Given the description of an element on the screen output the (x, y) to click on. 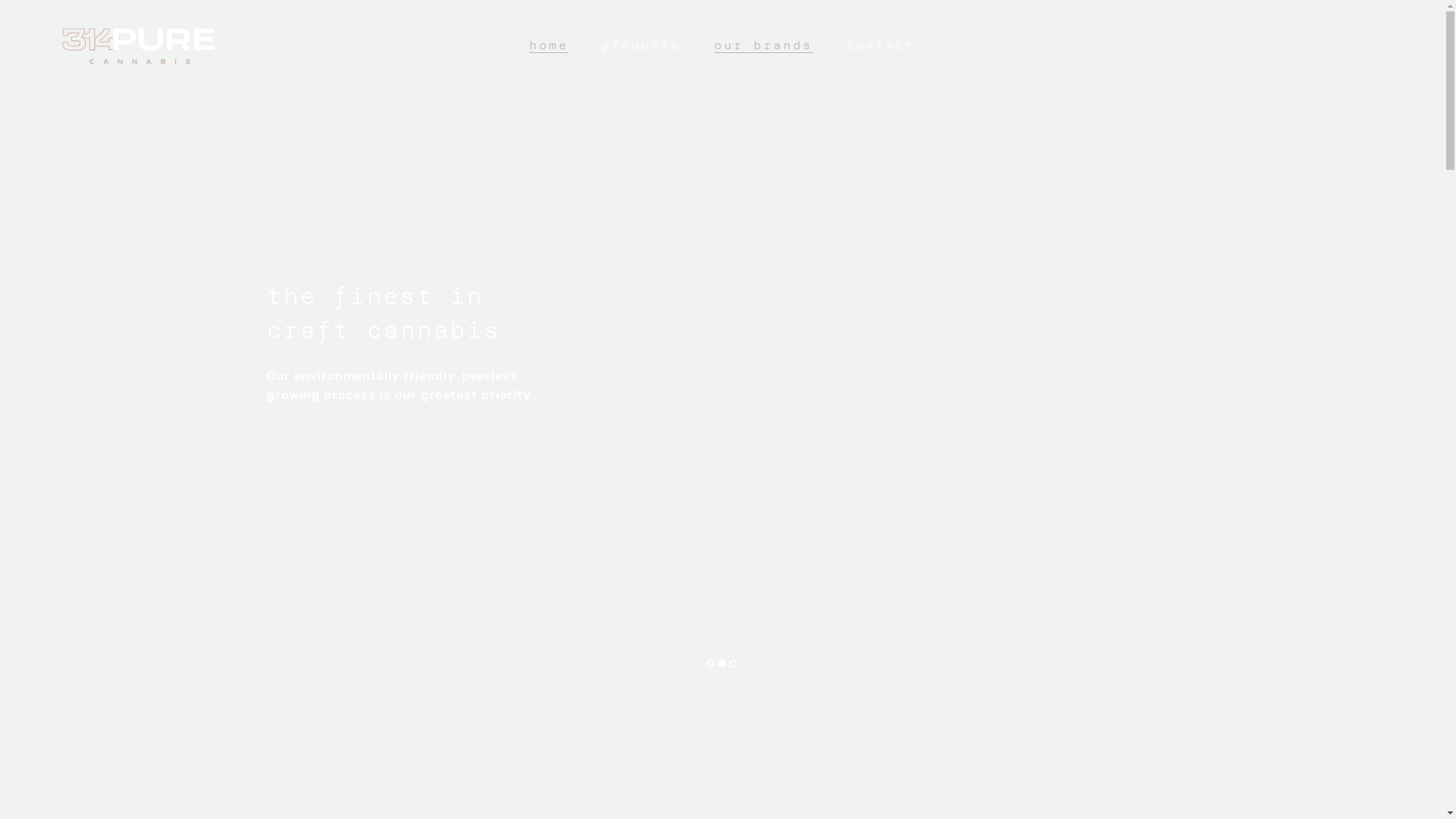
home Element type: text (548, 45)
our brands Element type: text (763, 45)
products Element type: text (641, 45)
contact Element type: text (880, 45)
